Given the description of an element on the screen output the (x, y) to click on. 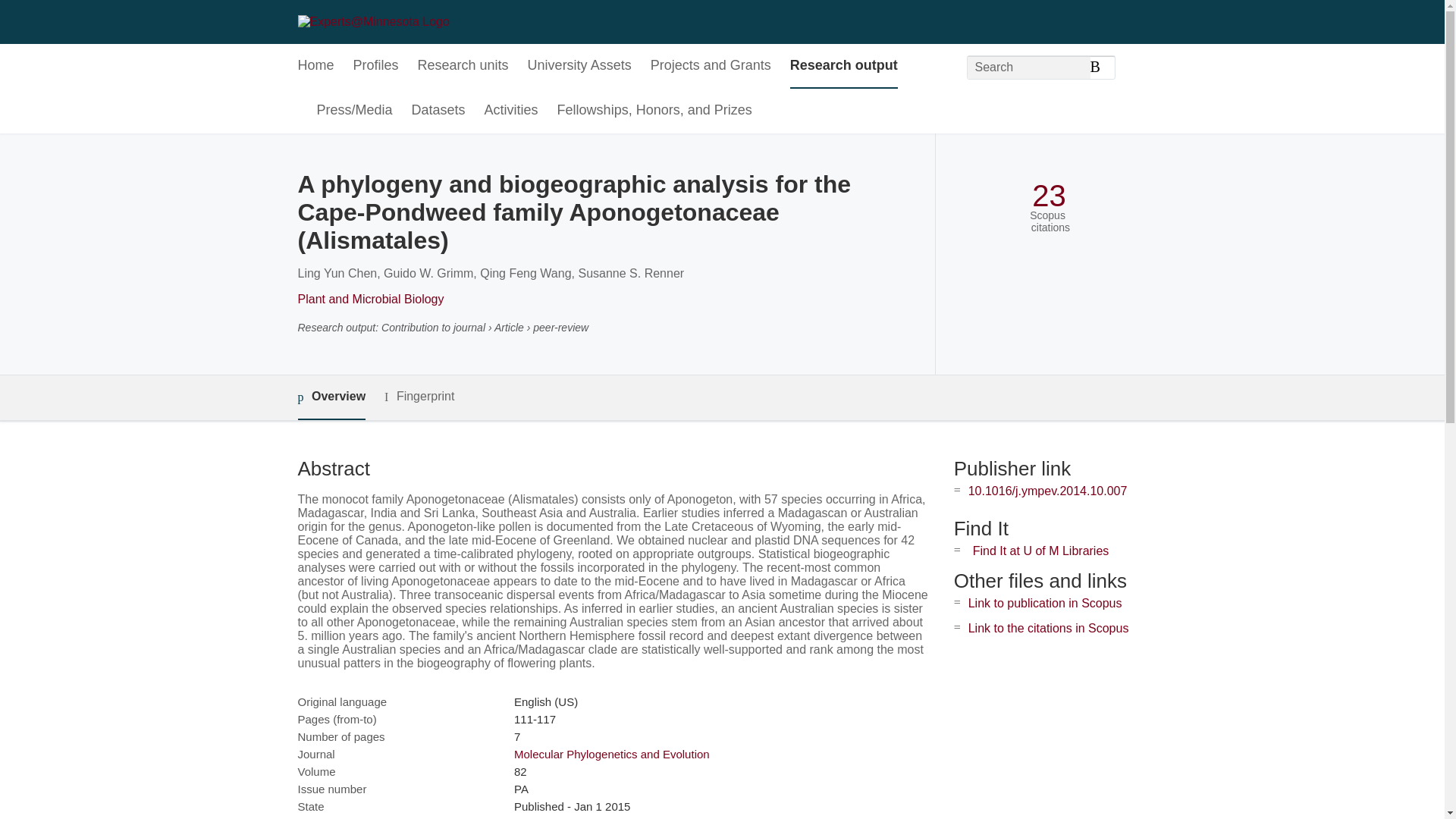
Research output (844, 66)
Plant and Microbial Biology (370, 298)
Link to the citations in Scopus (1048, 627)
Find It at U of M Libraries (1040, 550)
Projects and Grants (710, 66)
Datasets (438, 110)
Molecular Phylogenetics and Evolution (611, 753)
Fellowships, Honors, and Prizes (654, 110)
Link to publication in Scopus (1045, 603)
Research units (462, 66)
Home (315, 66)
23 (1048, 195)
Fingerprint (419, 396)
Profiles (375, 66)
